Given the description of an element on the screen output the (x, y) to click on. 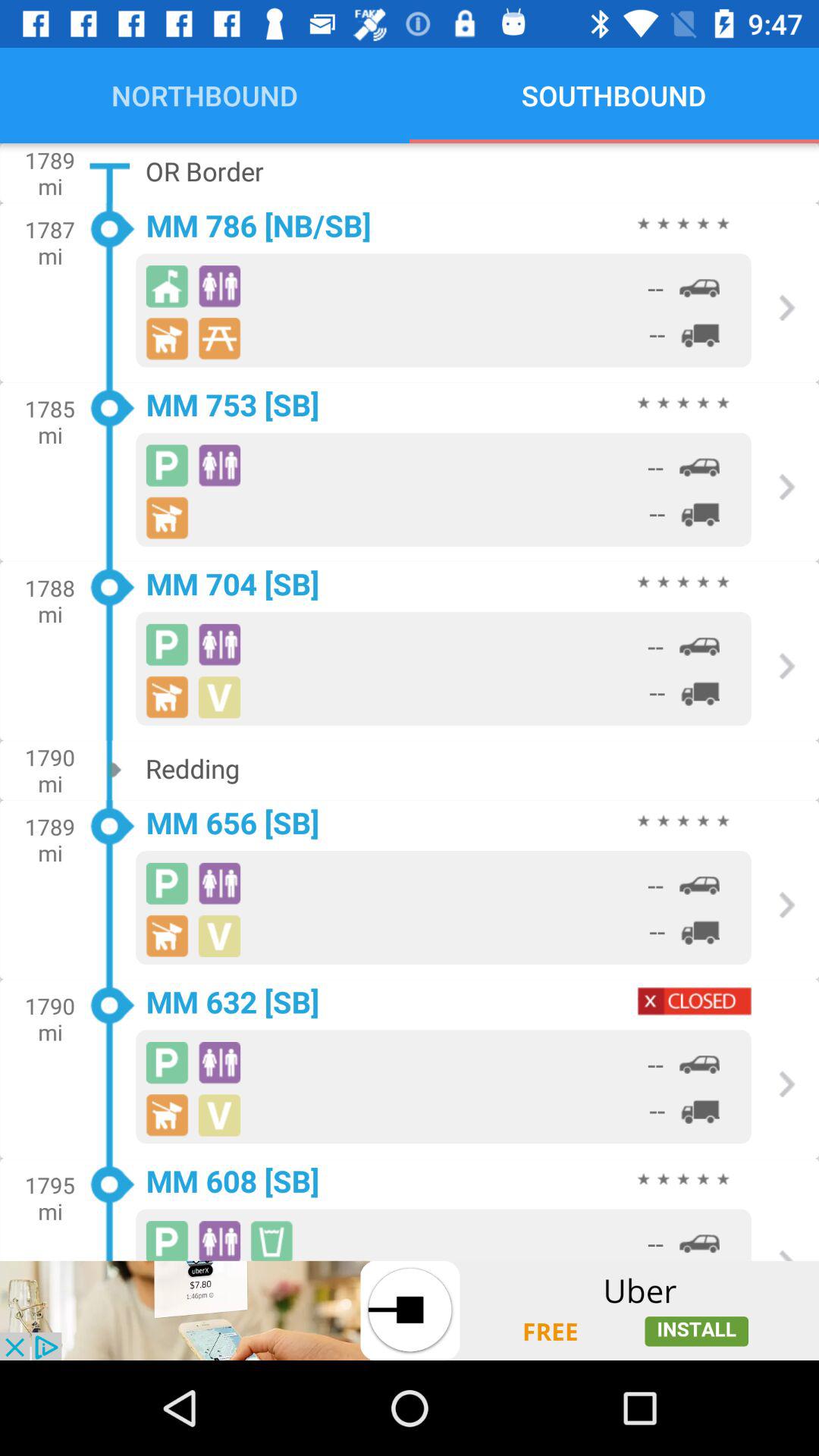
view advertisement (409, 1310)
